Given the description of an element on the screen output the (x, y) to click on. 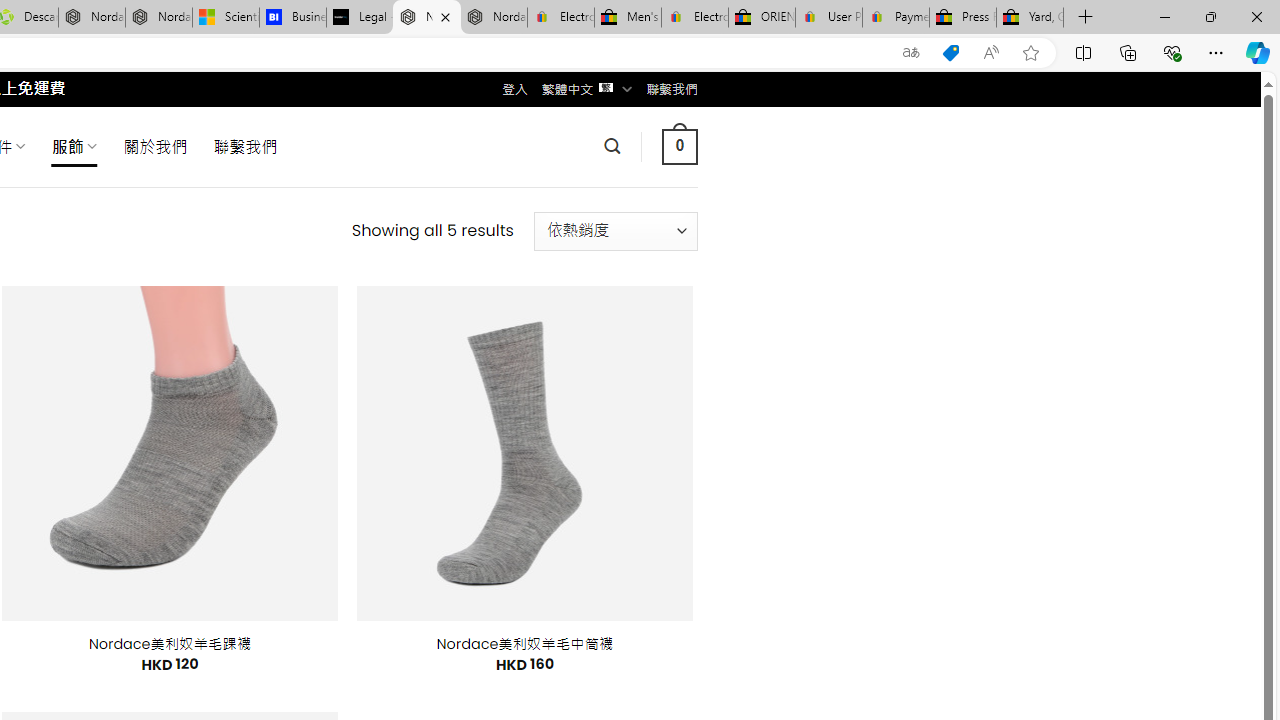
This site has coupons! Shopping in Microsoft Edge (950, 53)
Electronics, Cars, Fashion, Collectibles & More | eBay (694, 17)
